Given the description of an element on the screen output the (x, y) to click on. 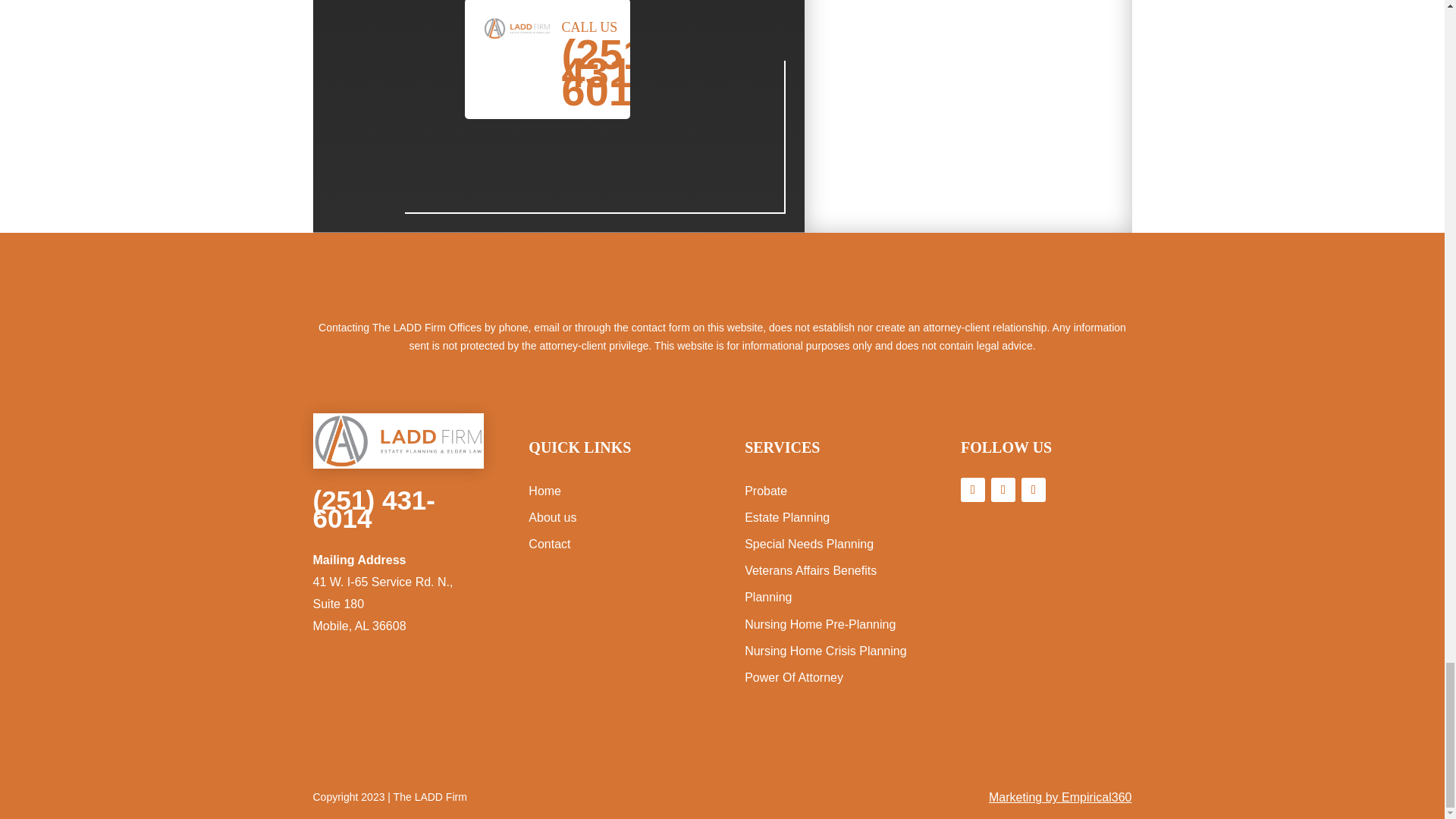
Follow on Facebook (972, 489)
Logo-24 (398, 441)
Follow on LinkedIn (1002, 489)
Follow on Youtube (1033, 489)
